Given the description of an element on the screen output the (x, y) to click on. 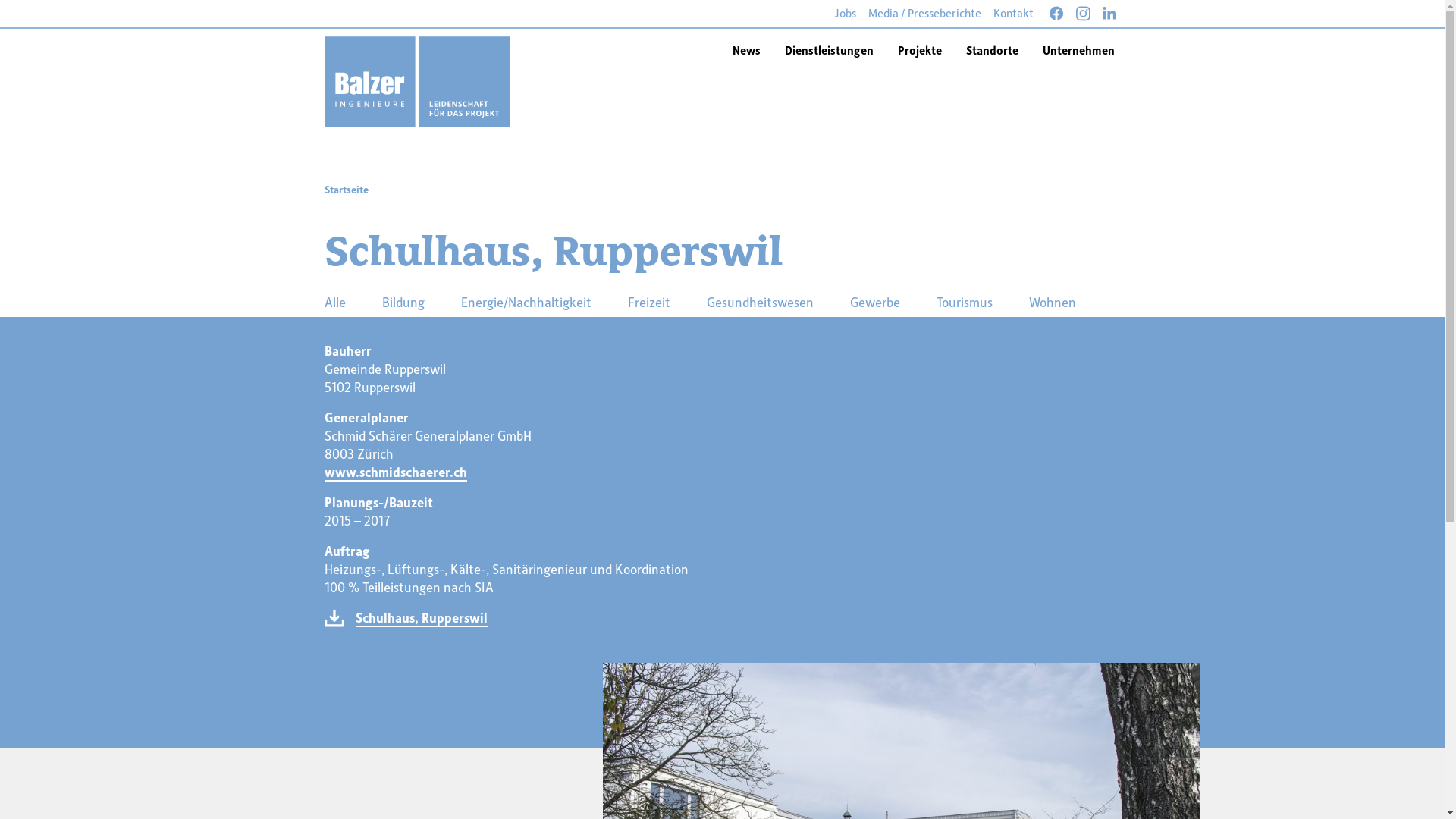
Tourismus Element type: text (963, 301)
Wohnen Element type: text (1051, 301)
Bildung Element type: text (403, 301)
Kontakt Element type: text (1013, 13)
Projekte Element type: text (919, 48)
Startseite Element type: text (346, 189)
Unternehmen Element type: text (1077, 48)
Energie/Nachhaltigkeit Element type: text (525, 301)
Dienstleistungen Element type: text (828, 48)
Jobs Element type: text (845, 13)
News Element type: text (746, 48)
Standorte Element type: text (992, 48)
Media / Presseberichte Element type: text (924, 13)
www.schmidschaerer.ch Element type: text (395, 472)
Schulhaus, Rupperswil Element type: text (420, 617)
Freizeit Element type: text (648, 301)
Gesundheitswesen Element type: text (759, 301)
Gewerbe Element type: text (874, 301)
Alle Element type: text (334, 301)
